Given the description of an element on the screen output the (x, y) to click on. 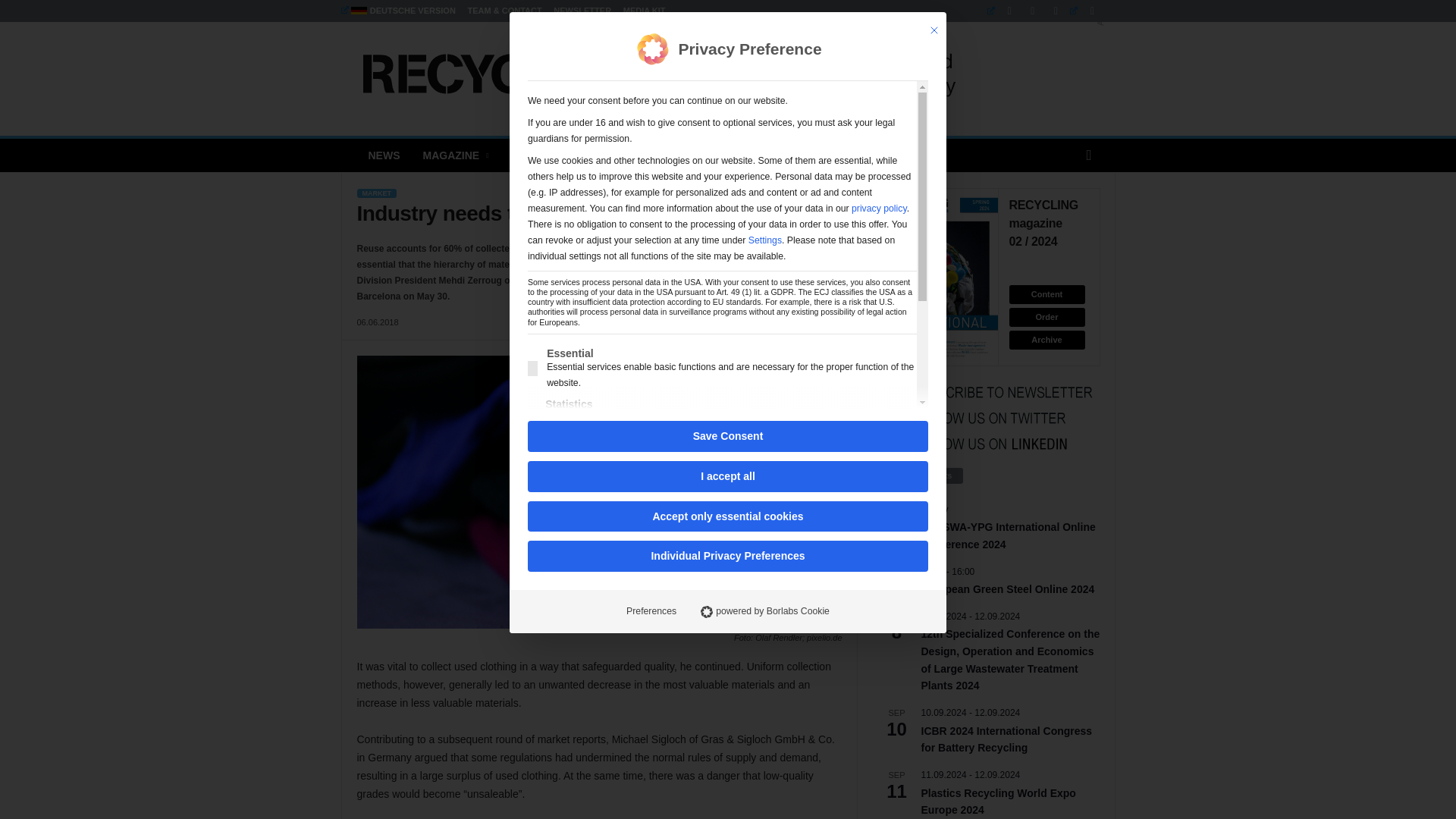
MEDIA KIT (644, 10)
NEWSLETTER (582, 10)
DEUTSCHE VERSION (397, 10)
Twitter (1086, 11)
Linkedin (1003, 11)
